Given the description of an element on the screen output the (x, y) to click on. 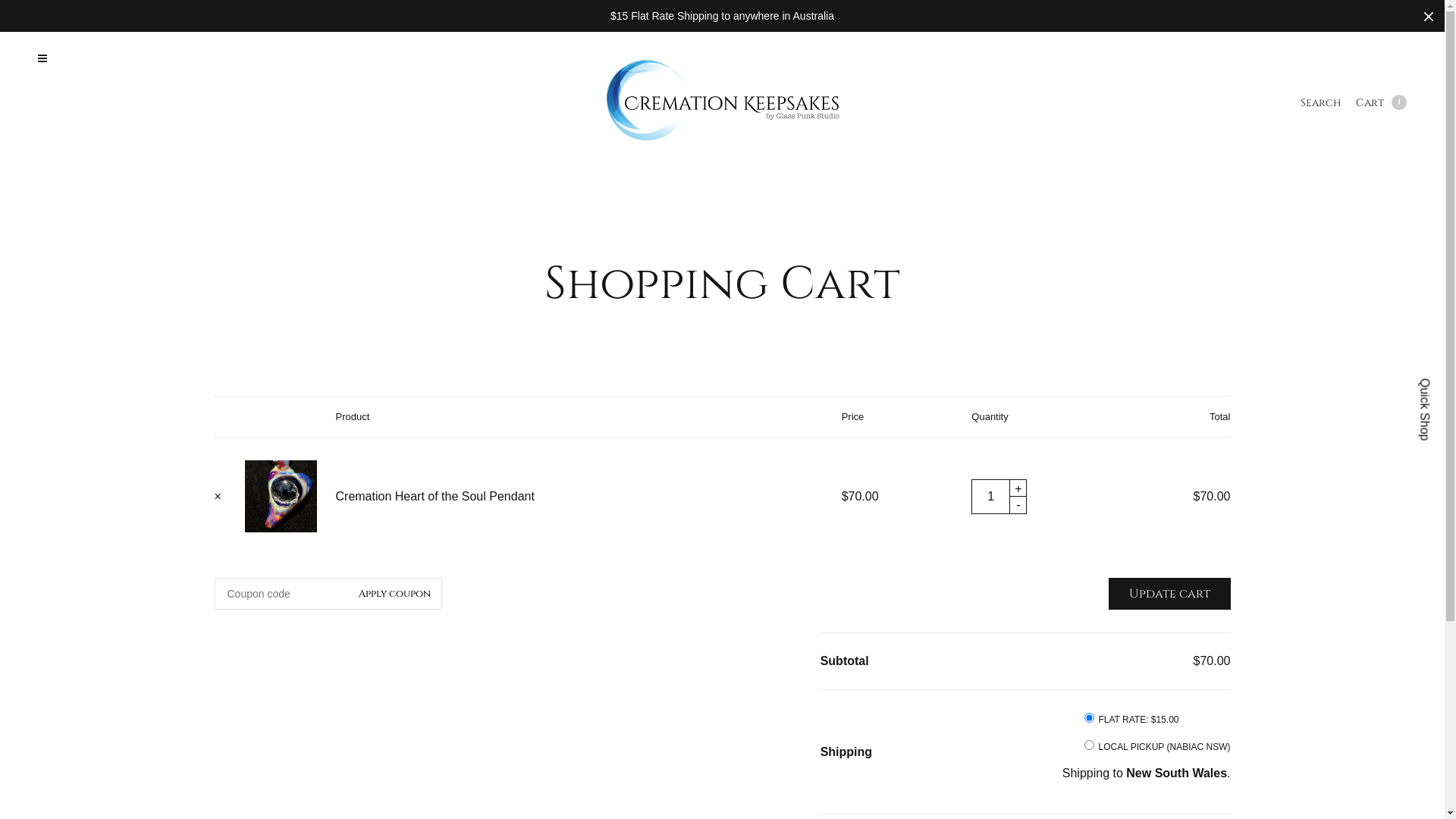
Search Element type: text (1320, 102)
Cart
1 Element type: text (1380, 102)
Update cart Element type: text (1169, 593)
Apply coupon Element type: text (393, 593)
Cremation Heart of the Soul Pendant Element type: text (434, 495)
